Given the description of an element on the screen output the (x, y) to click on. 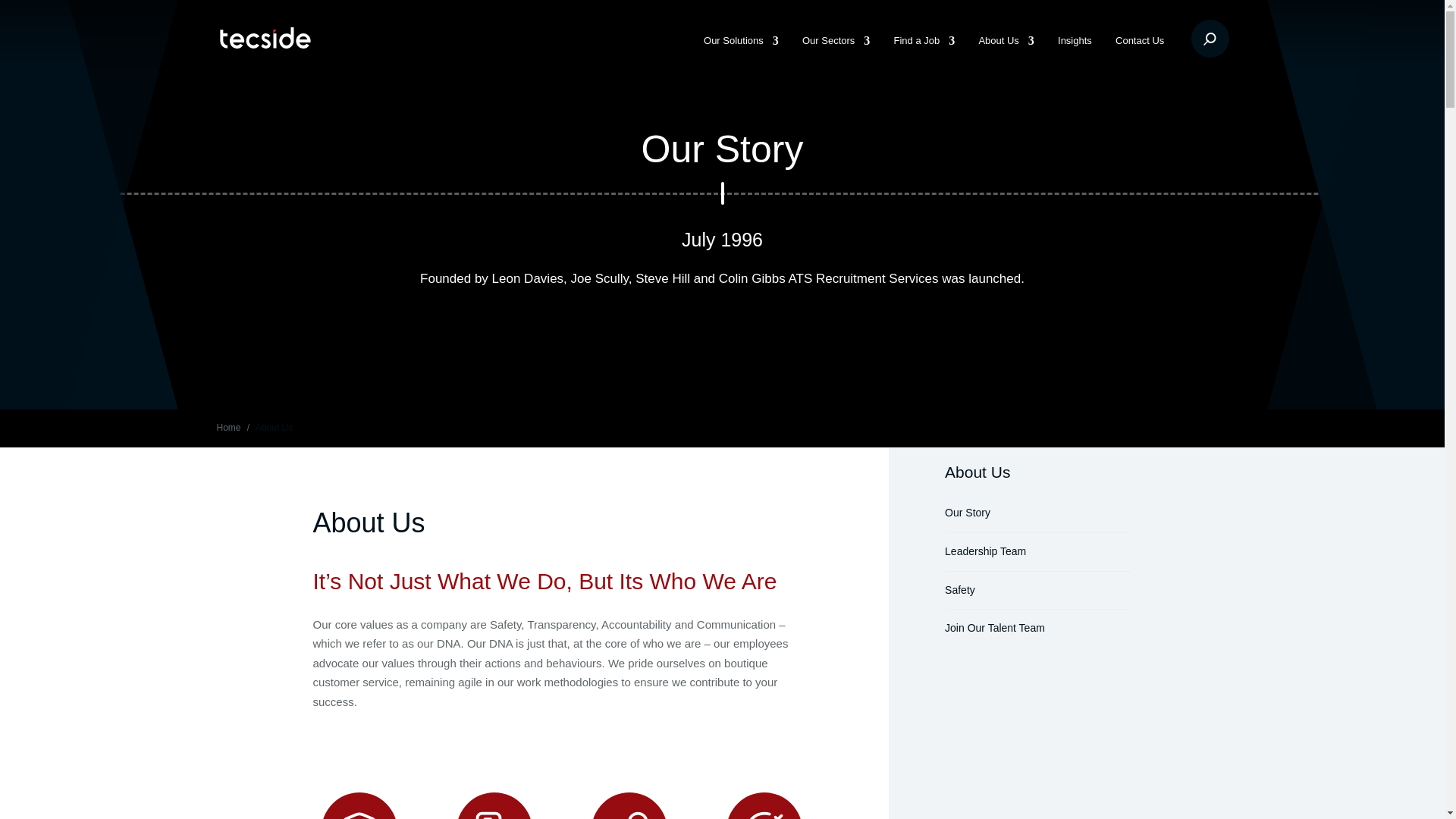
About Us (1005, 56)
We Care about Finding the Right People. (835, 56)
Our Sectors (835, 56)
July 1996 (722, 239)
Find a Job (924, 56)
Our Solutions (740, 56)
Contact Us (1139, 56)
